Given the description of an element on the screen output the (x, y) to click on. 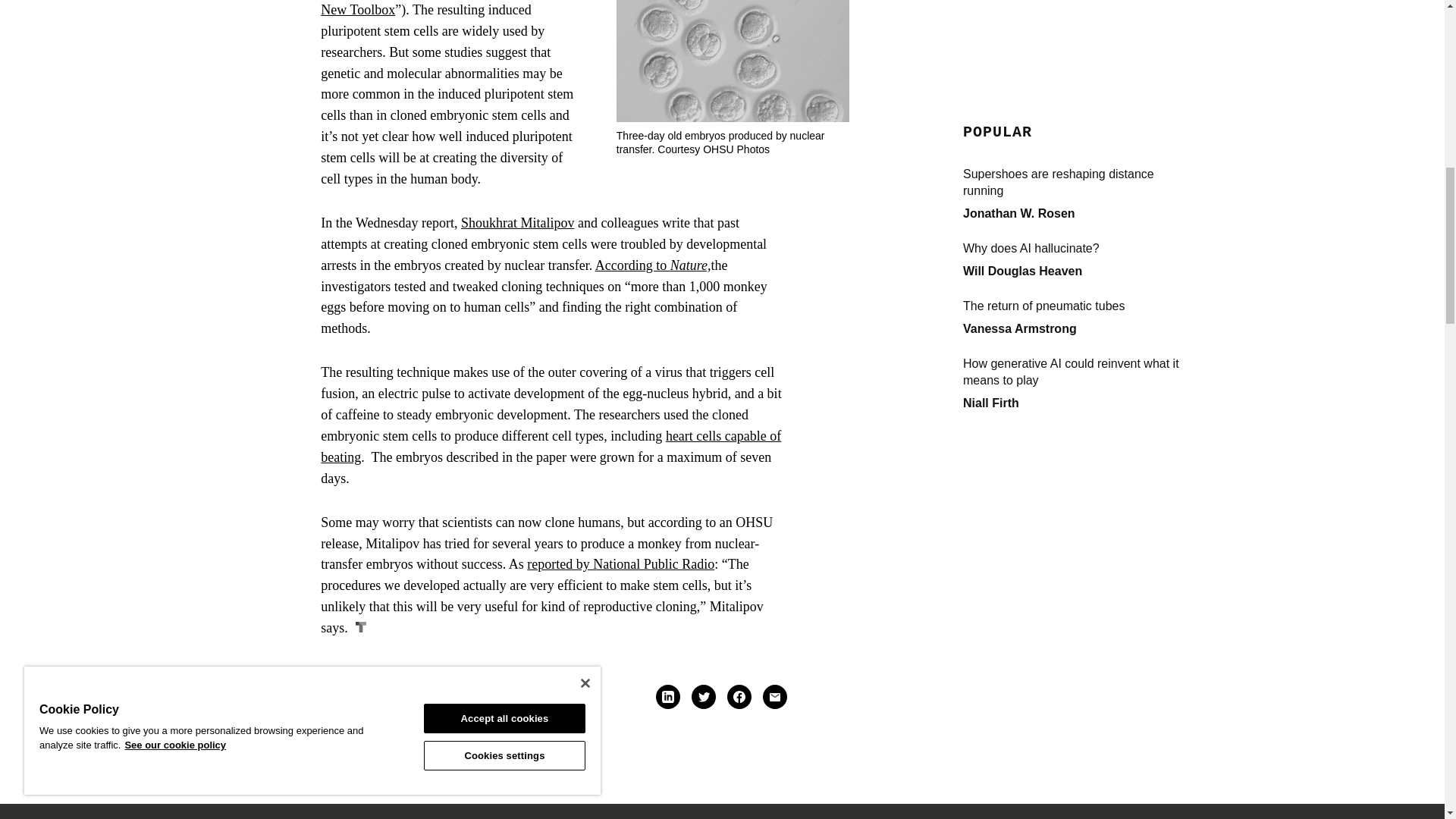
Susan Young Rojahn (437, 696)
Vanessa Armstrong (1019, 2)
reported by National Public Radio (620, 563)
Shoukhrat Mitalipov (518, 222)
Share story on linkedin (668, 696)
Share story on facebook (739, 696)
Niall Firth (990, 71)
Share story on email (774, 696)
According to Nature, (653, 264)
heart cells capable of beating (550, 446)
